Given the description of an element on the screen output the (x, y) to click on. 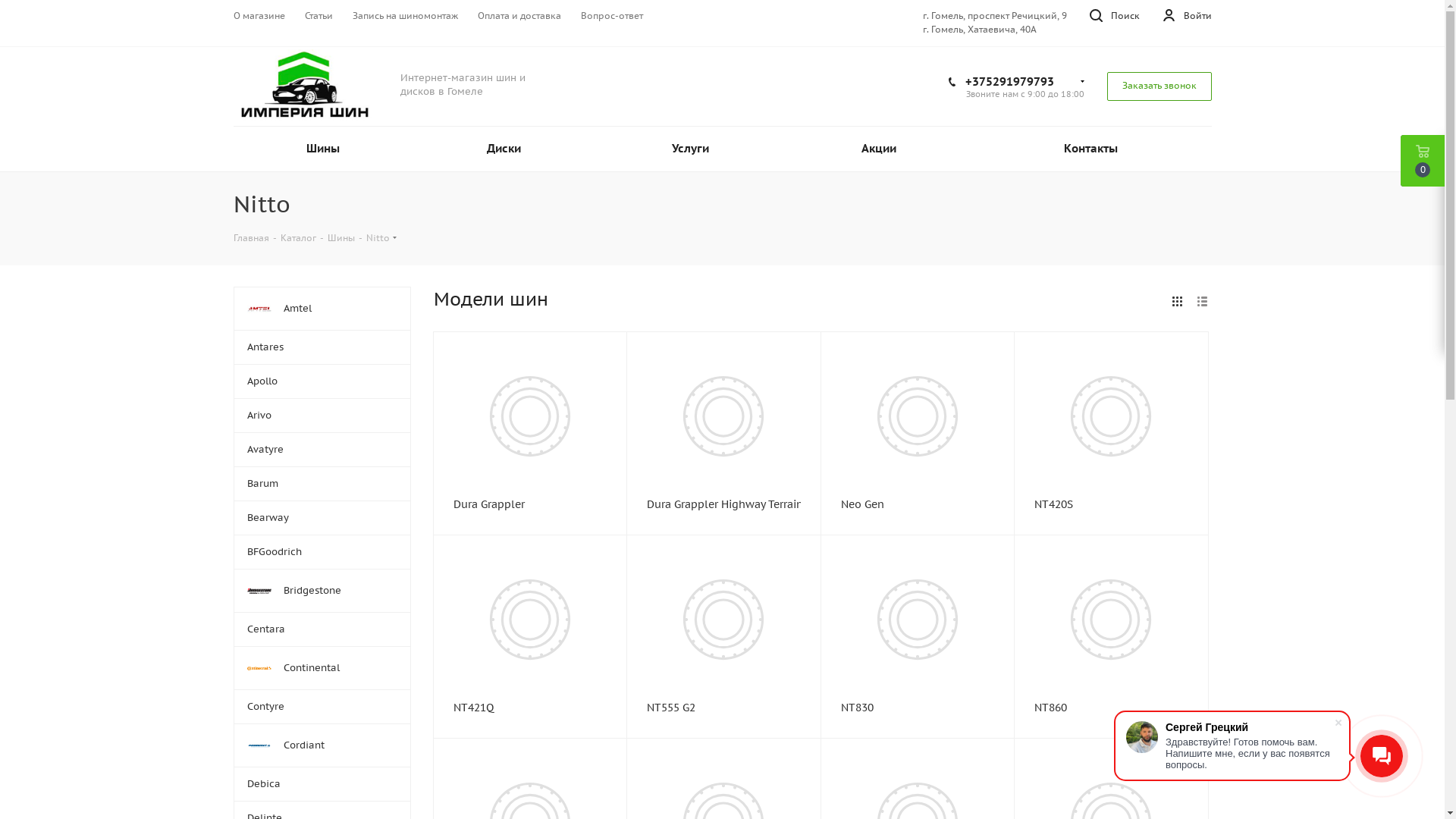
Arivo Element type: text (322, 415)
NT555 G2 Element type: hover (722, 619)
Dura Grappler Element type: text (530, 503)
Neo Gen Element type: hover (917, 415)
Neo Gen Element type: text (917, 503)
Dura Grappler Highway Terrain Element type: text (723, 503)
Barum Element type: text (322, 483)
NT830 Element type: hover (917, 619)
Bridgestone Element type: text (322, 589)
BFGoodrich Element type: text (322, 551)
NT420S Element type: hover (1110, 415)
+375291979793 Element type: text (1008, 81)
Amtel Element type: text (322, 307)
NT830 Element type: text (917, 707)
Dura Grappler Highway Terrain Element type: hover (722, 415)
NT860 Element type: hover (1110, 619)
NT420S Element type: text (1111, 503)
Centara Element type: text (322, 628)
NT555 G2 Element type: text (723, 707)
NT421Q Element type: text (530, 707)
Continental Element type: text (322, 667)
NT421Q Element type: hover (529, 619)
Apollo Element type: text (322, 381)
Bearway Element type: text (322, 517)
Antares Element type: text (322, 346)
Contyre Element type: text (322, 706)
Avatyre Element type: text (322, 449)
Dura Grappler Element type: hover (529, 415)
Cordiant Element type: text (322, 744)
Debica Element type: text (322, 783)
NT860 Element type: text (1111, 707)
